Given the description of an element on the screen output the (x, y) to click on. 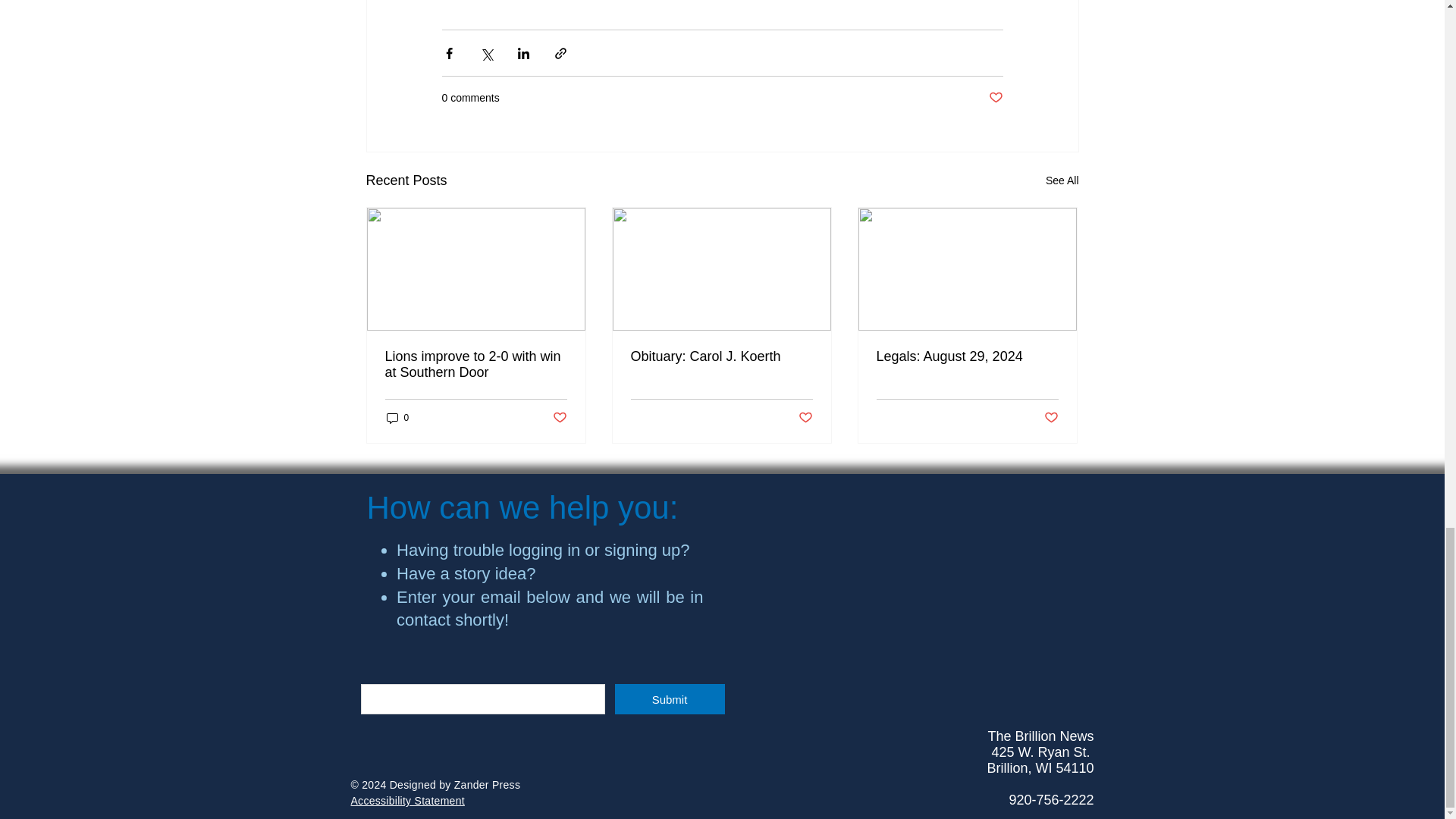
Lions improve to 2-0 with win at Southern Door (476, 364)
See All (1061, 180)
Post not marked as liked (995, 98)
0 (397, 418)
Post not marked as liked (558, 417)
